Given the description of an element on the screen output the (x, y) to click on. 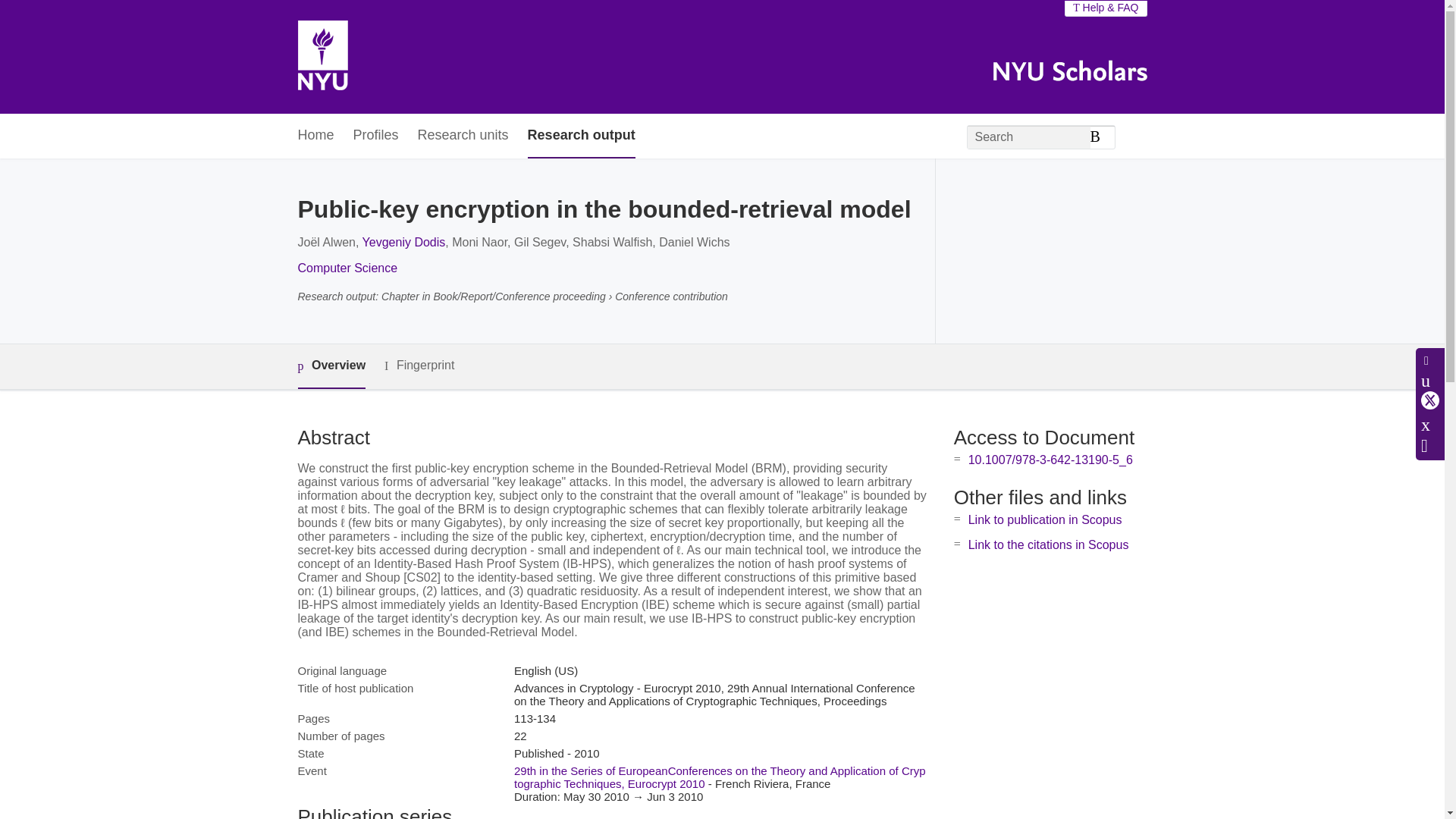
Computer Science (347, 267)
Link to publication in Scopus (1045, 519)
Overview (331, 366)
Yevgeniy Dodis (403, 241)
Research output (580, 135)
Profiles (375, 135)
Link to the citations in Scopus (1048, 544)
Fingerprint (419, 365)
